Given the description of an element on the screen output the (x, y) to click on. 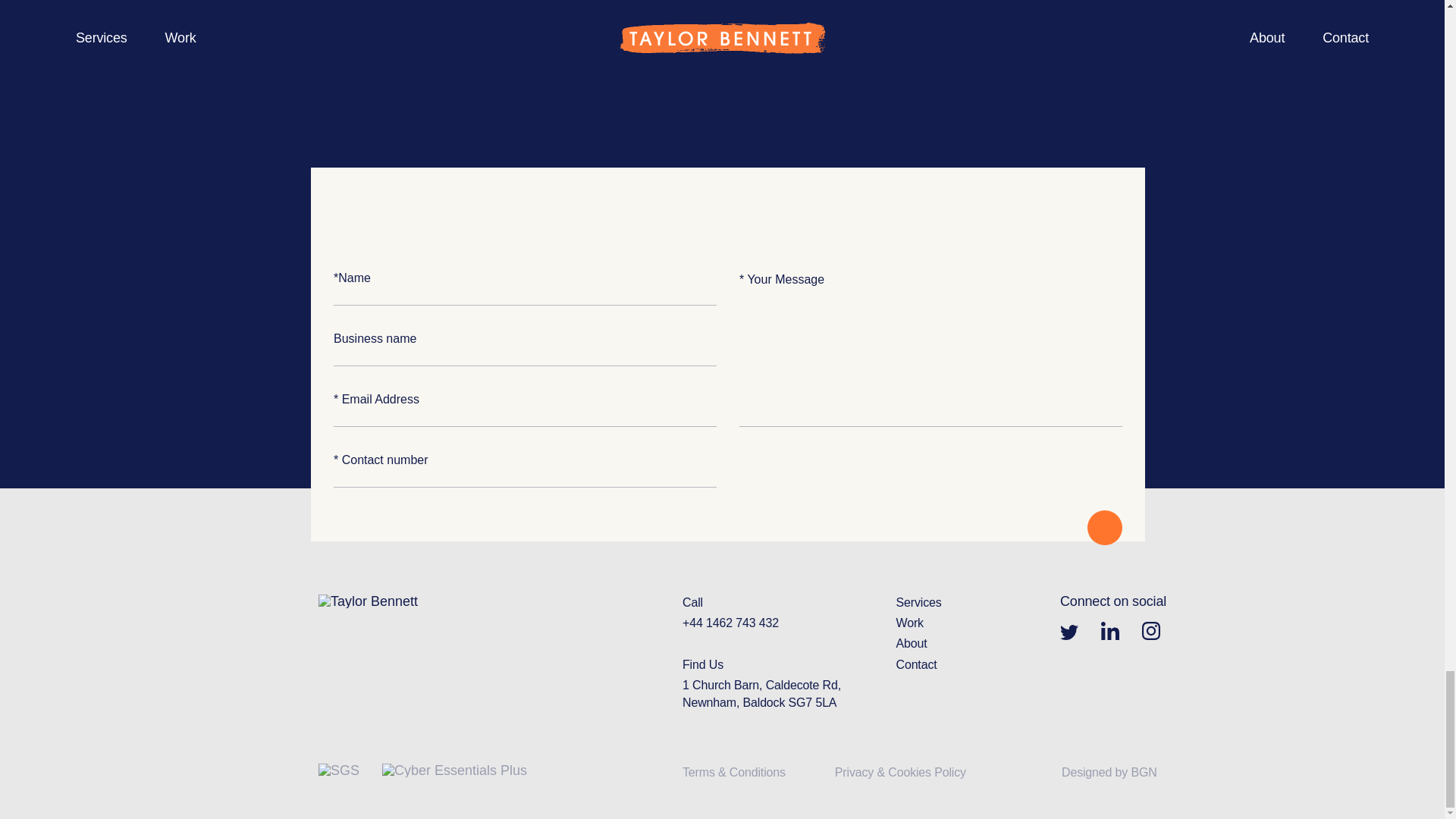
Submit (1104, 527)
About (911, 643)
Contact (916, 664)
Work (909, 622)
Services (919, 602)
Submit (1104, 527)
Designed by BGN (1109, 771)
